Given the description of an element on the screen output the (x, y) to click on. 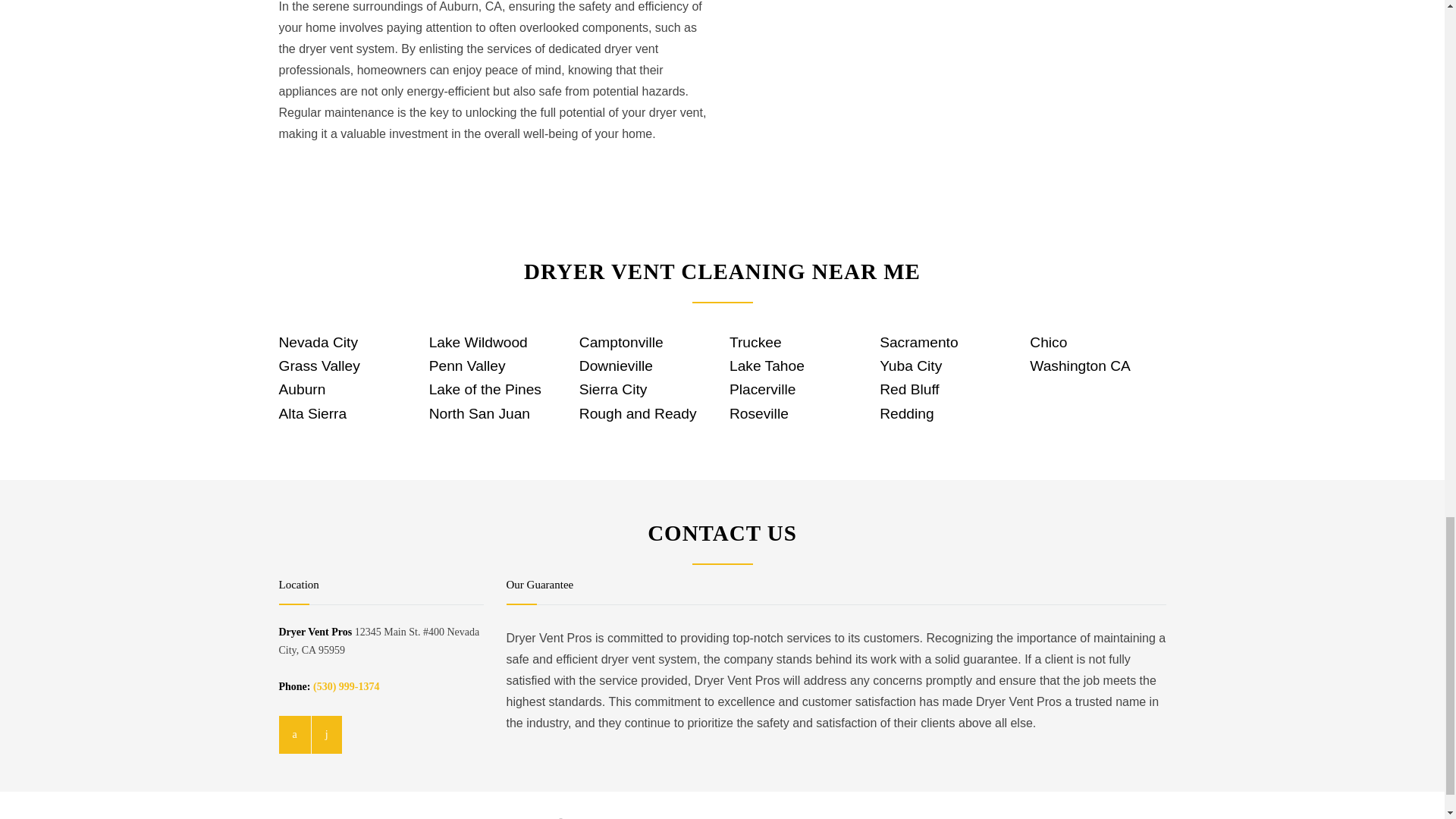
Truckee (755, 342)
Rough and Ready (638, 413)
Grass Valley (319, 365)
Nevada City (318, 342)
Placerville (761, 389)
Roseville (759, 413)
Yuba City (910, 365)
Penn Valley (467, 365)
Sacramento (918, 342)
Camptonville (621, 342)
